Given the description of an element on the screen output the (x, y) to click on. 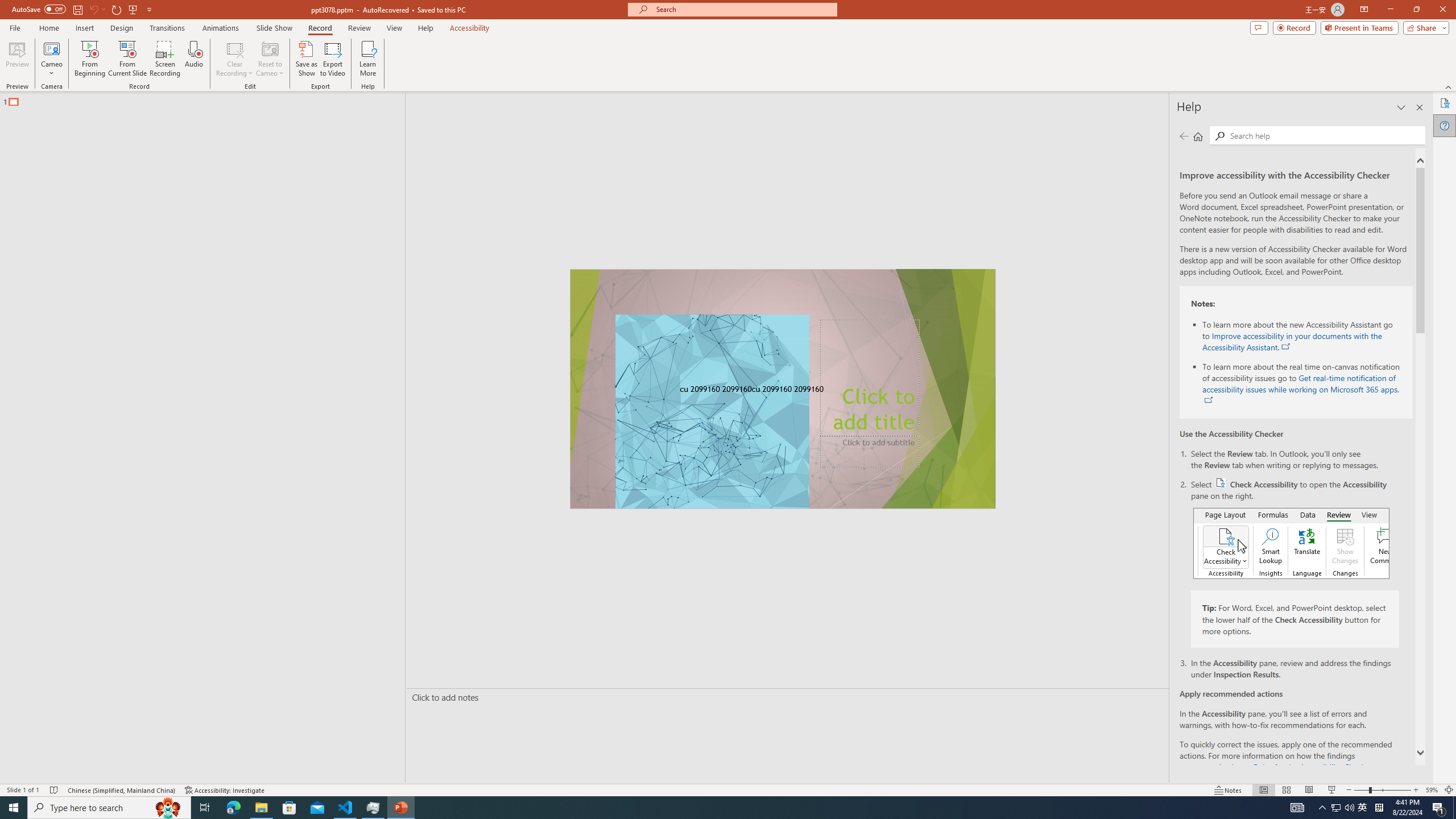
TextBox 61 (781, 389)
Previous page (1183, 136)
